Given the description of an element on the screen output the (x, y) to click on. 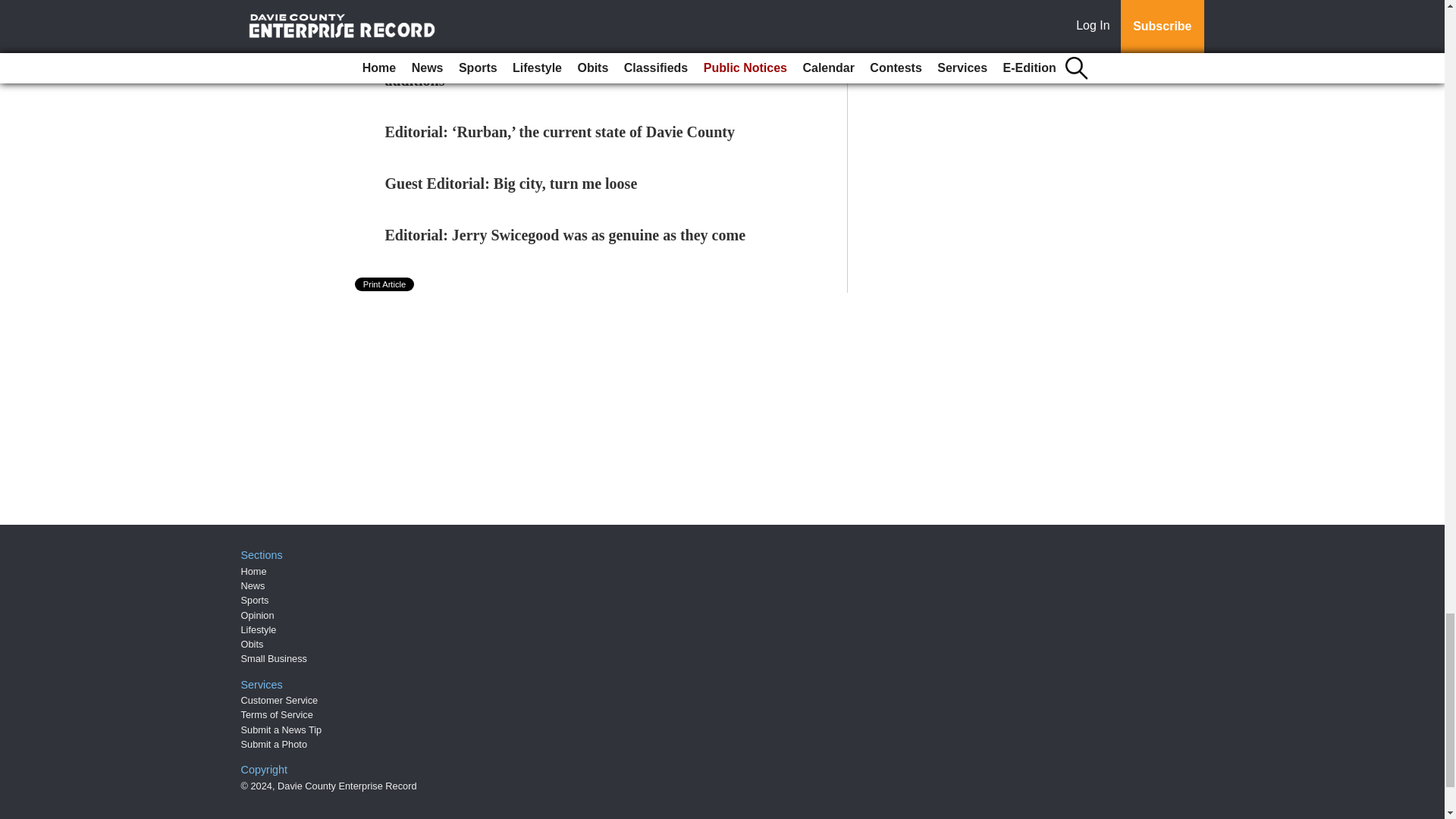
Editorial: Jerry Swicegood was as genuine as they come (565, 234)
Editorial: Jerry Swicegood was as genuine as they come (565, 234)
Guest Editorial: Big city, turn me loose (511, 183)
Print Article (384, 284)
Guest Editorial: Big city, turn me loose (511, 183)
News (252, 585)
Sports (255, 600)
Home (253, 571)
